Given the description of an element on the screen output the (x, y) to click on. 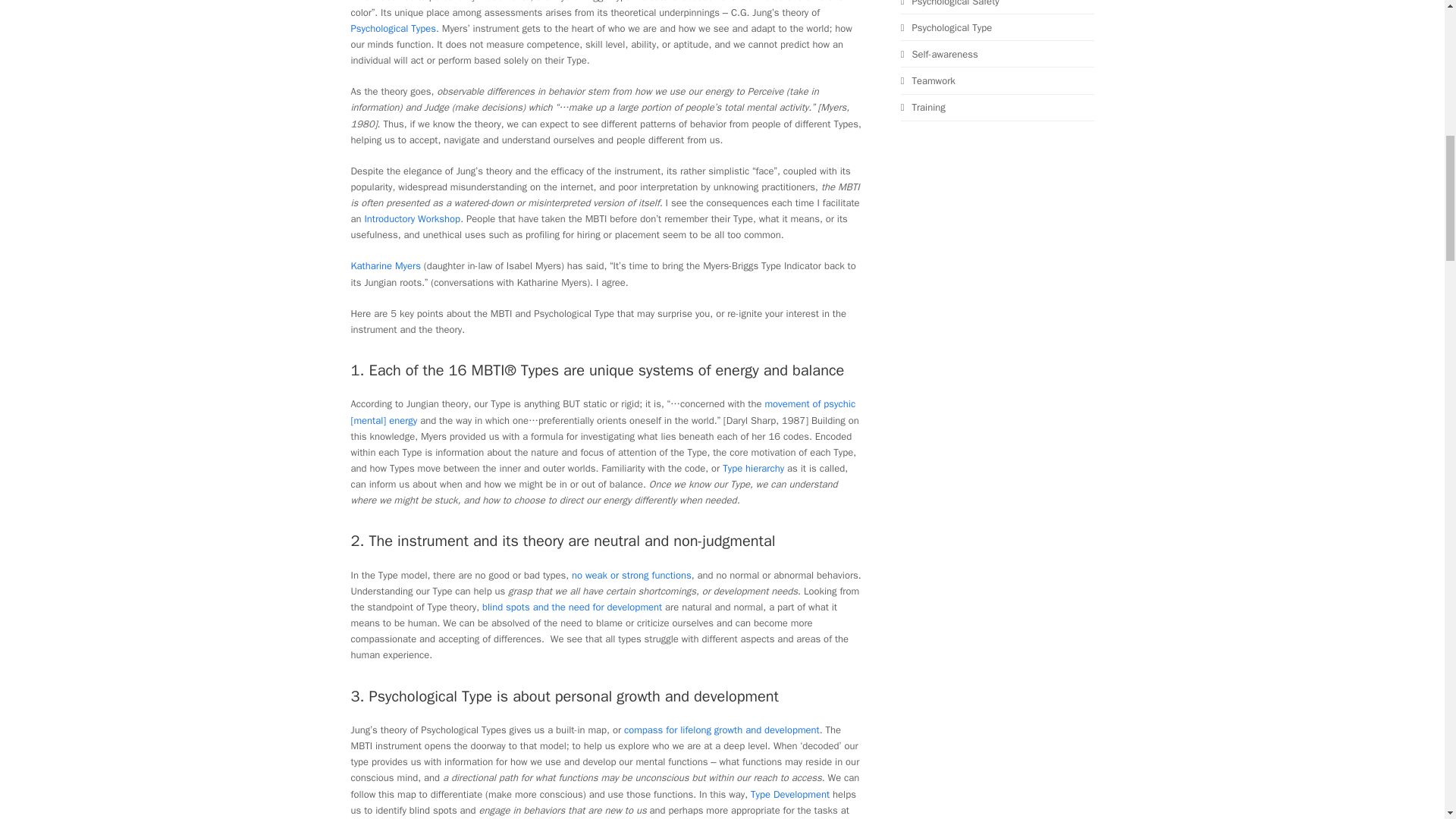
Psychological Types. (394, 28)
Katharine Myers (385, 265)
Type hierarchy (753, 468)
Introductory Workshop (412, 218)
